Given the description of an element on the screen output the (x, y) to click on. 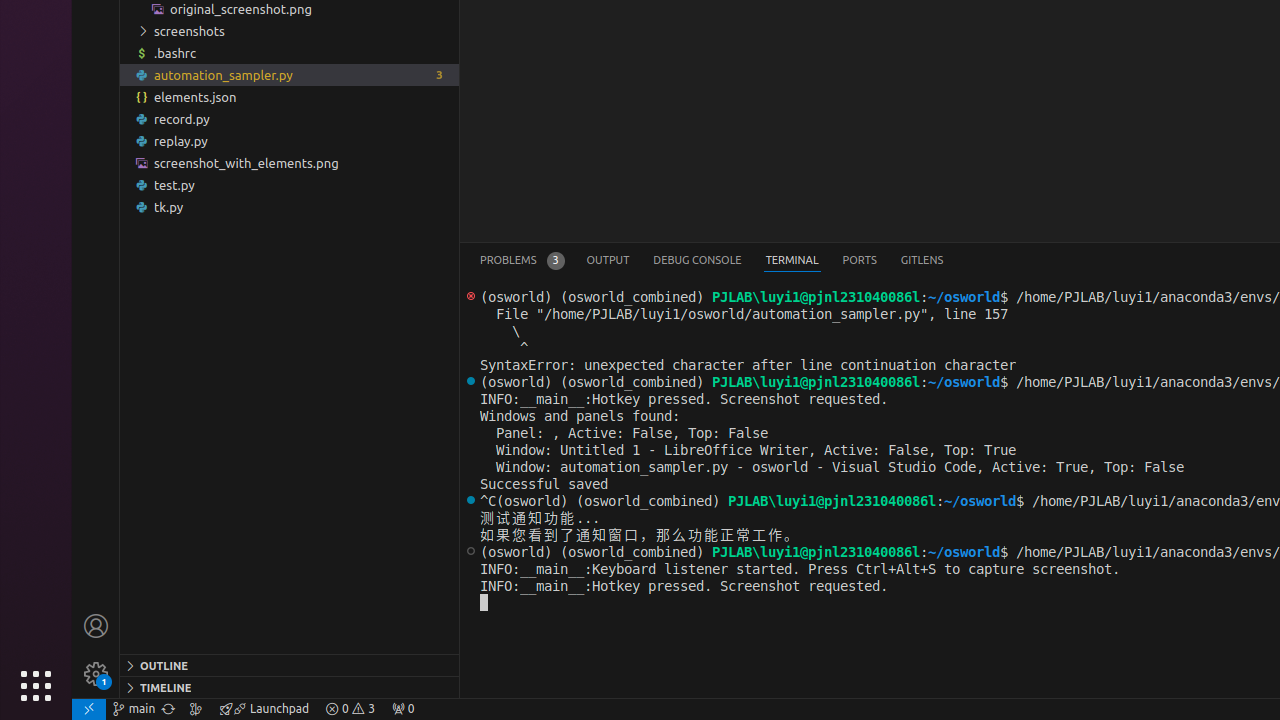
Manage - New Code update available. Element type: push-button (96, 674)
rocket gitlens-unplug Launchpad, GitLens Launchpad ᴘʀᴇᴠɪᴇᴡ    &mdash;    [$(question)](command:gitlens.launchpad.indicator.action?%22info%22 "What is this?") [$(gear)](command:workbench.action.openSettings?%22gitlens.launchpad%22 "Settings")  |  [$(circle-slash) Hide](command:gitlens.launchpad.indicator.action?%22hide%22 "Hide") --- [Launchpad](command:gitlens.launchpad.indicator.action?%info%22 "Learn about Launchpad") organizes your pull requests into actionable groups to help you focus and keep your team unblocked. It's always accessible using the `GitLens: Open Launchpad` command from the Command Palette. --- [Connect an integration](command:gitlens.showLaunchpad?%7B%22source%22%3A%22launchpad-indicator%22%7D "Connect an integration") to get started. Element type: push-button (264, 709)
replay.py Element type: tree-item (289, 141)
Outline Section Element type: push-button (289, 665)
